Given the description of an element on the screen output the (x, y) to click on. 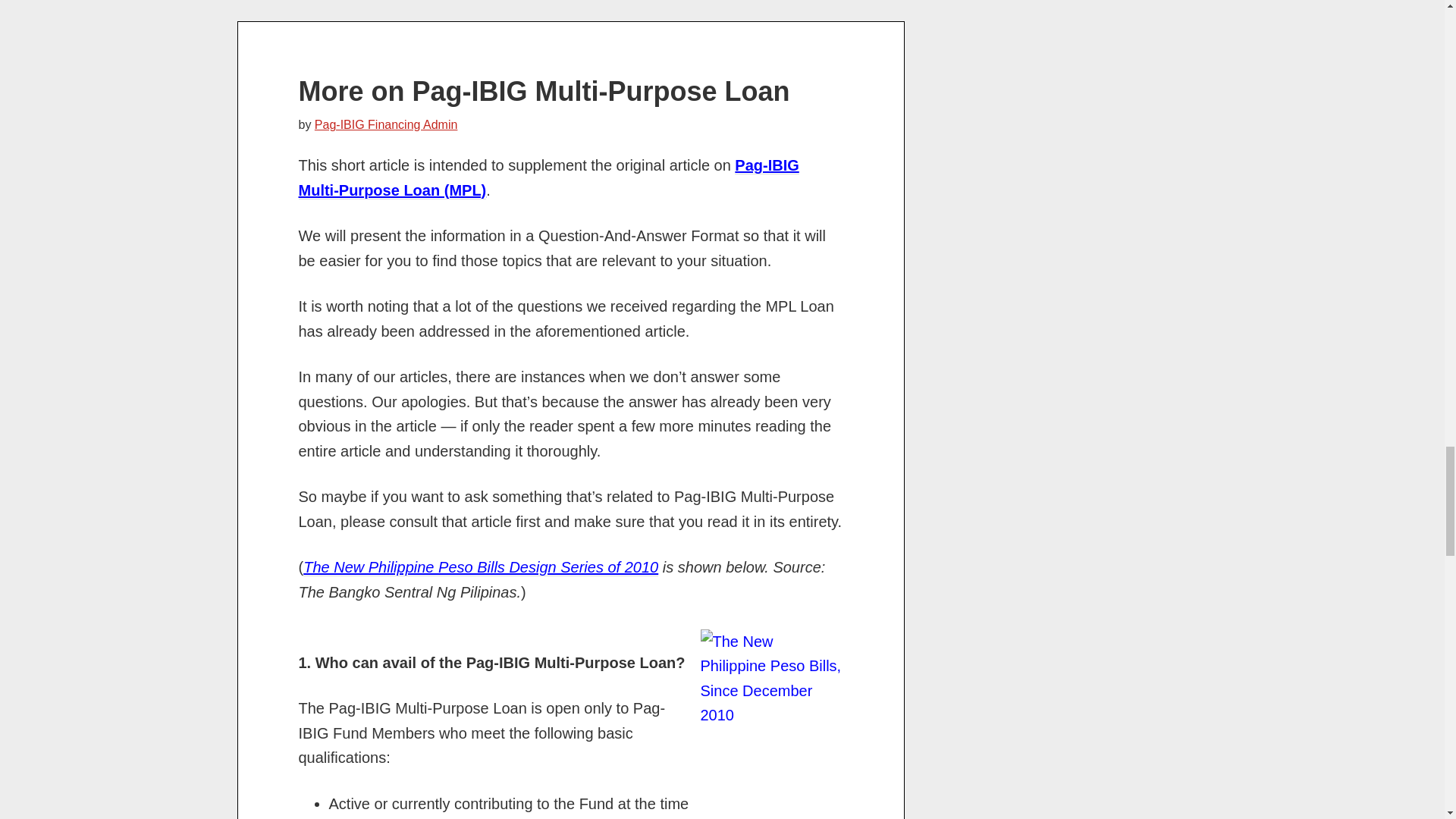
Pag-IBIG Financing Admin (386, 124)
More on Pag-IBIG Multi-Purpose Loan (544, 91)
The New Philippine Peso Bills Design Series of 2010 (480, 567)
